Given the description of an element on the screen output the (x, y) to click on. 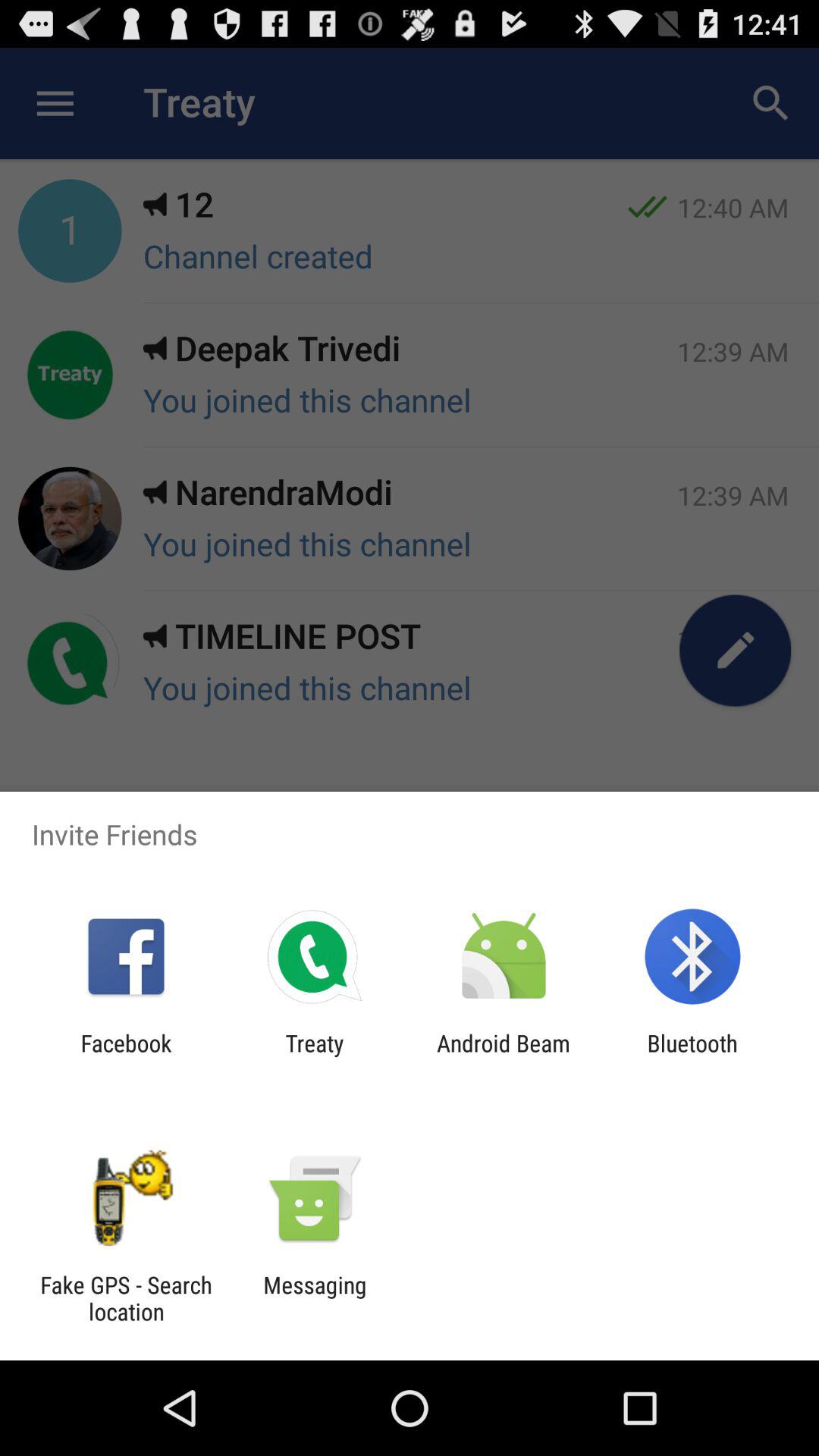
click fake gps search app (125, 1298)
